Given the description of an element on the screen output the (x, y) to click on. 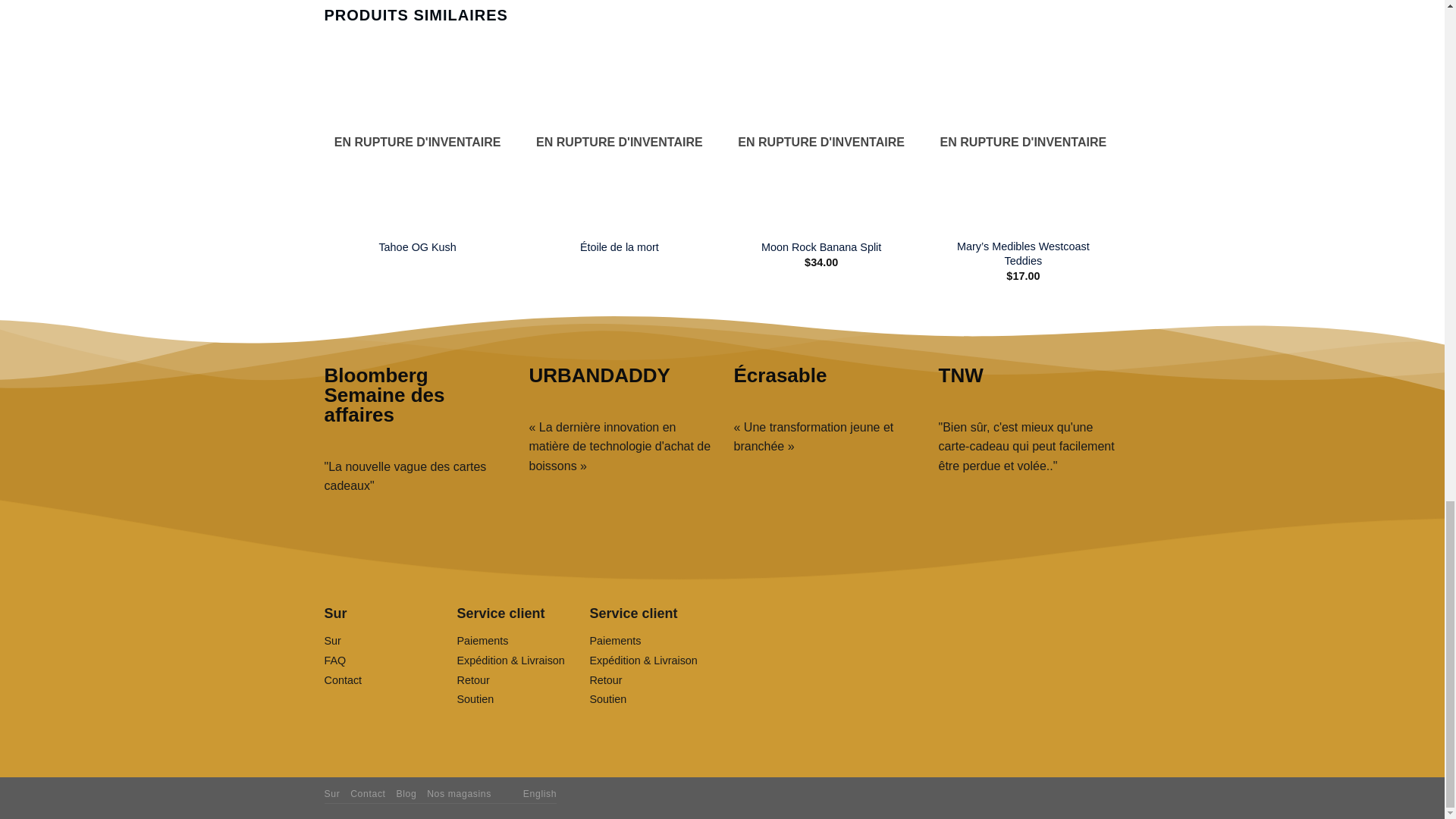
English (512, 792)
